Given the description of an element on the screen output the (x, y) to click on. 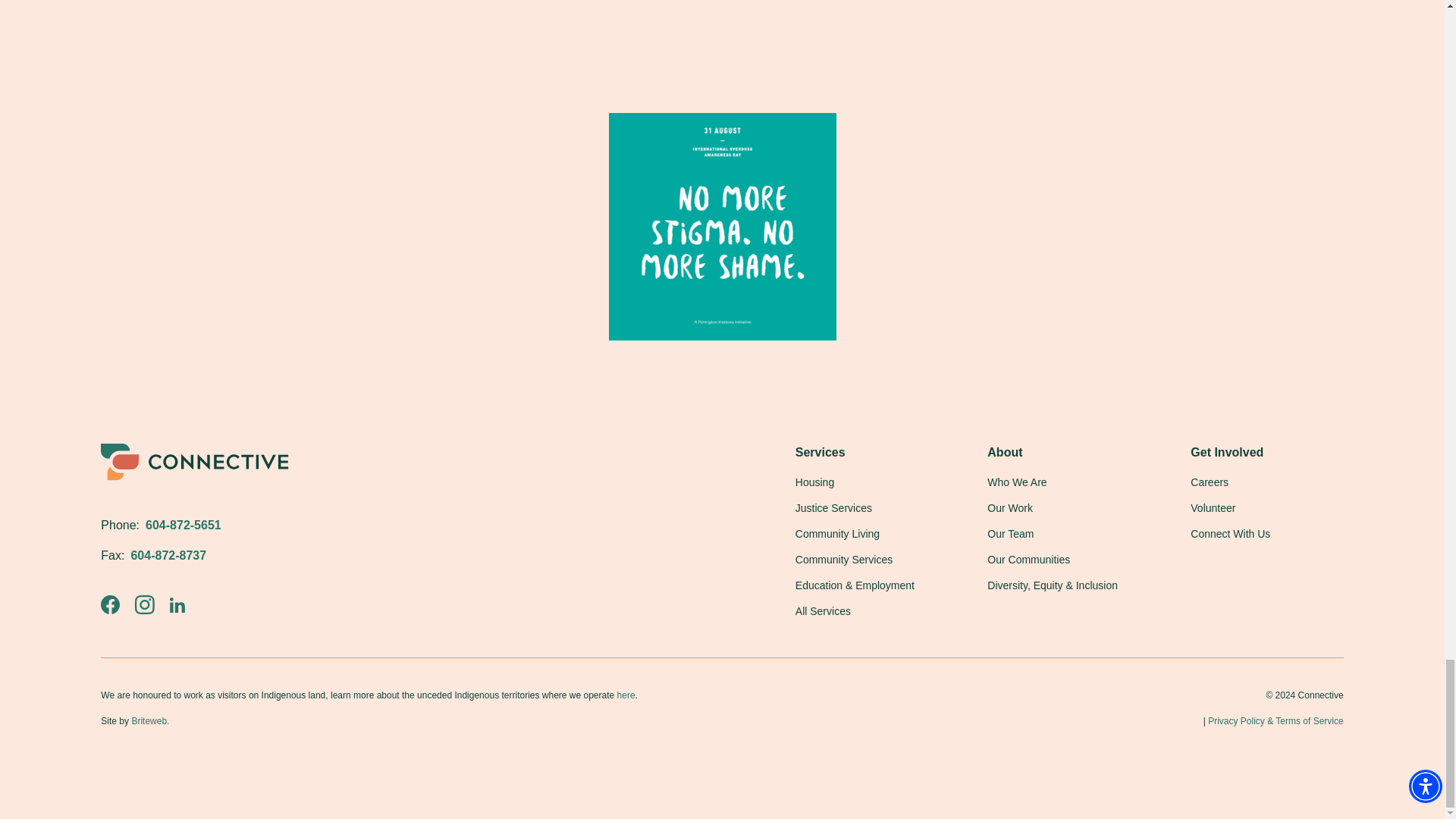
Peer Mentors   Stephen's Story (721, 20)
